Given the description of an element on the screen output the (x, y) to click on. 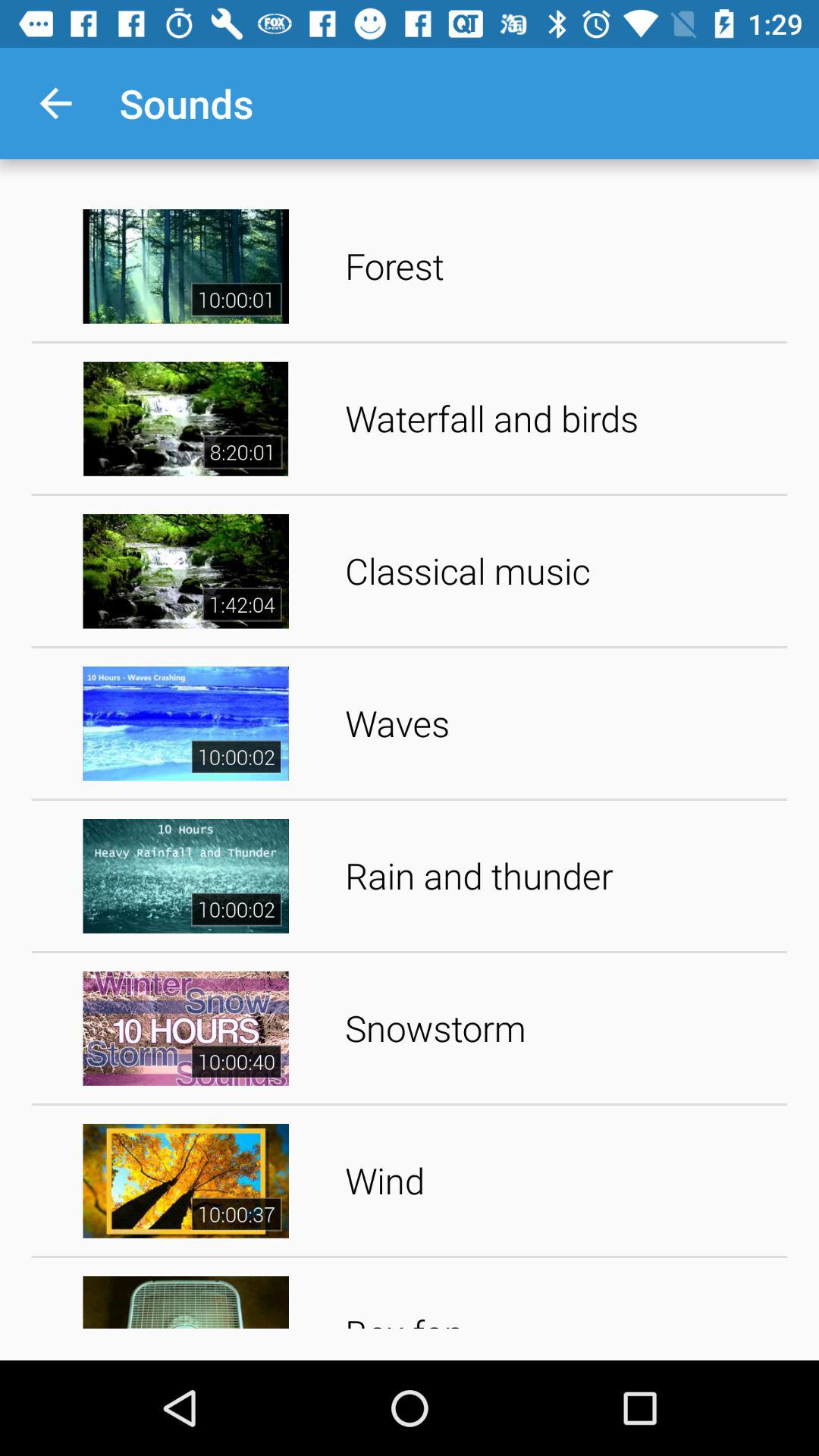
choose classical music icon (560, 570)
